Given the description of an element on the screen output the (x, y) to click on. 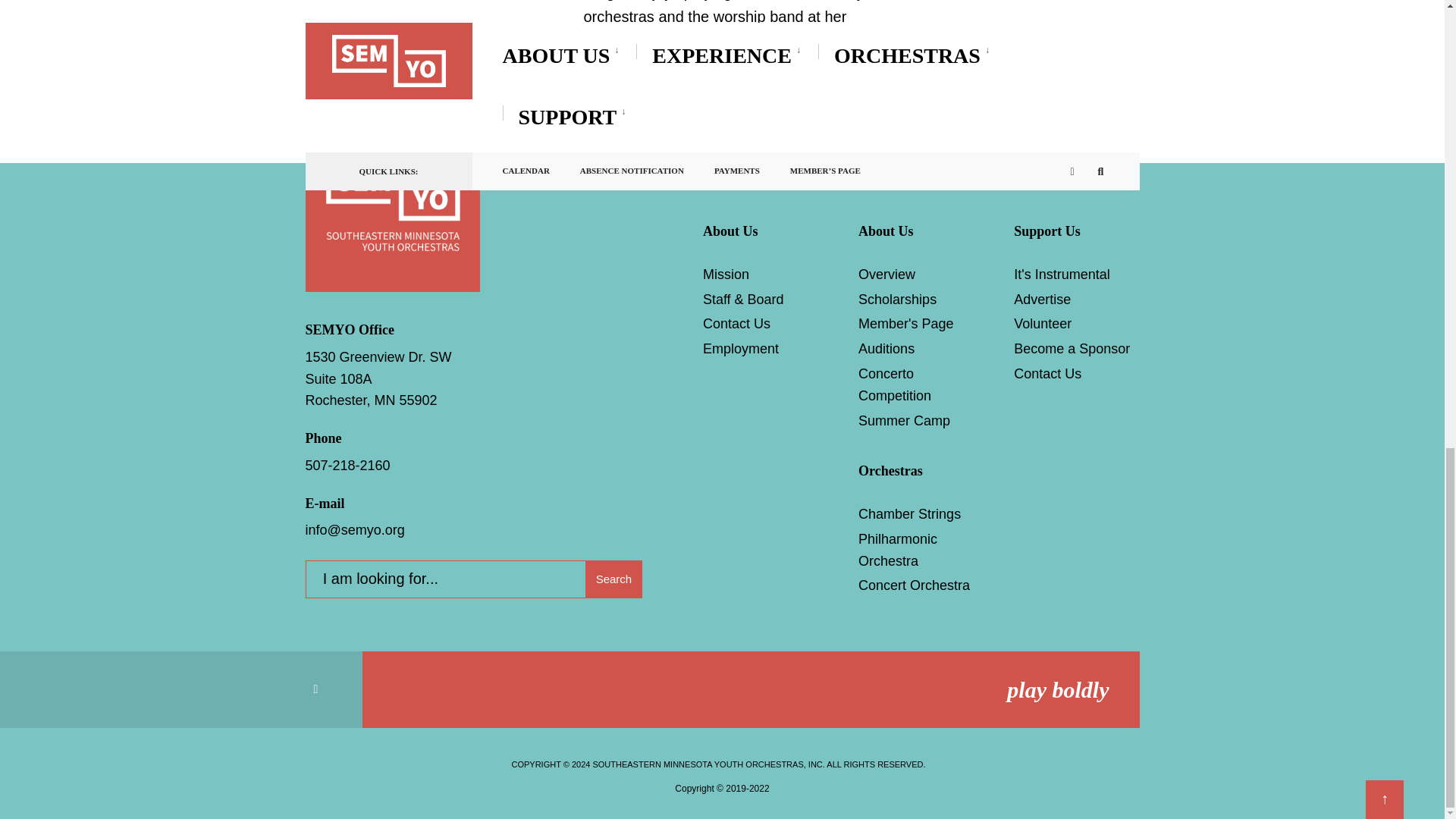
I am looking for... (473, 579)
Mission (726, 273)
Search (613, 579)
